Given the description of an element on the screen output the (x, y) to click on. 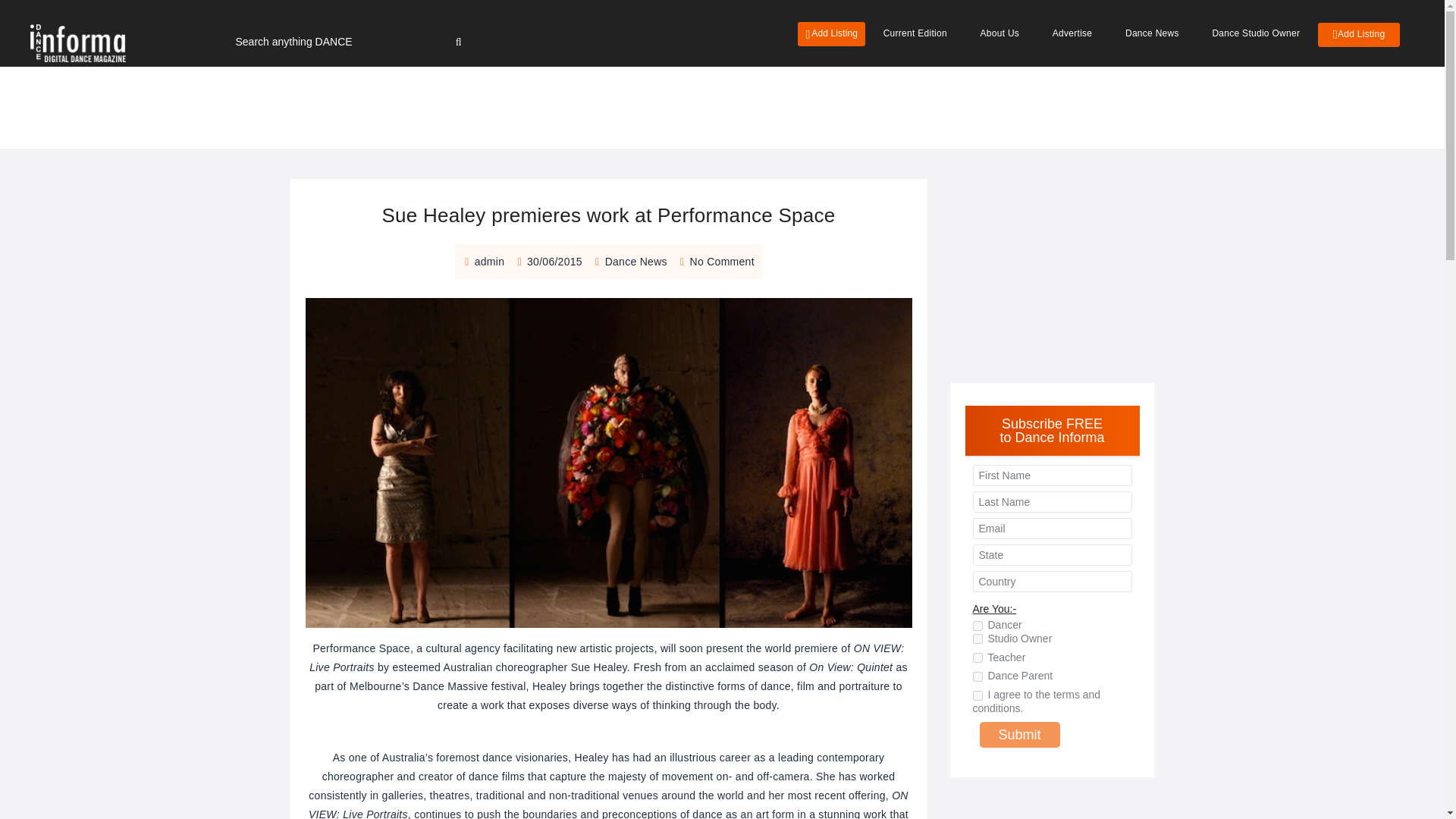
Dance Studio Owner (1255, 33)
Current Edition (914, 33)
1 (976, 625)
1 (976, 638)
1 (976, 696)
Add Listing (830, 33)
About Us (1000, 33)
1 (976, 657)
Dance News (635, 261)
